Given the description of an element on the screen output the (x, y) to click on. 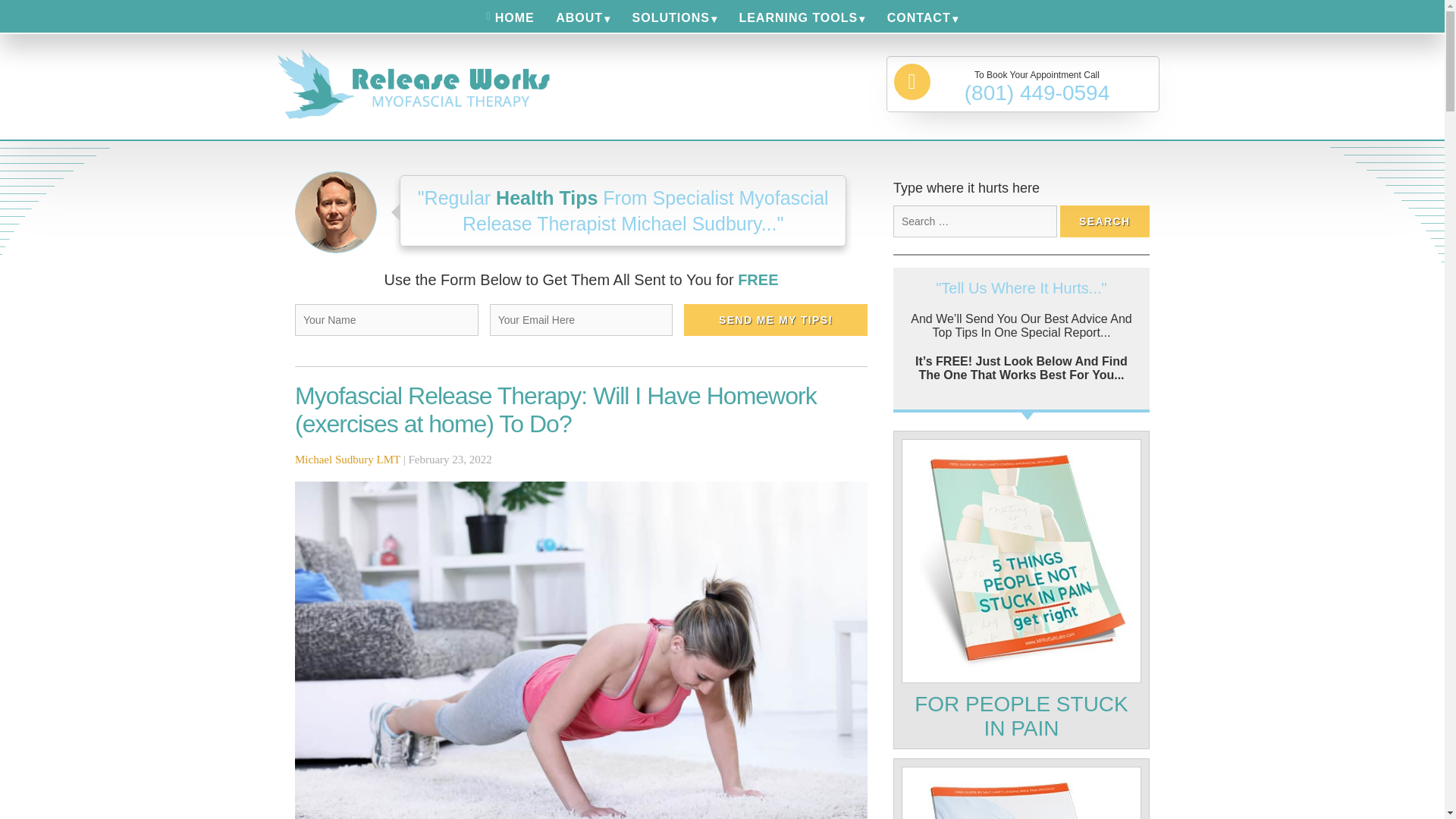
ABOUT (583, 18)
LEARNING TOOLS (802, 18)
Send Me My Tips! (775, 319)
Send Me My Tips! (775, 319)
HOME (510, 16)
CONTACT (922, 18)
Search (1104, 221)
Skip to content (40, 6)
SOLUTIONS (674, 18)
Michael Sudbury LMT (347, 459)
